Given the description of an element on the screen output the (x, y) to click on. 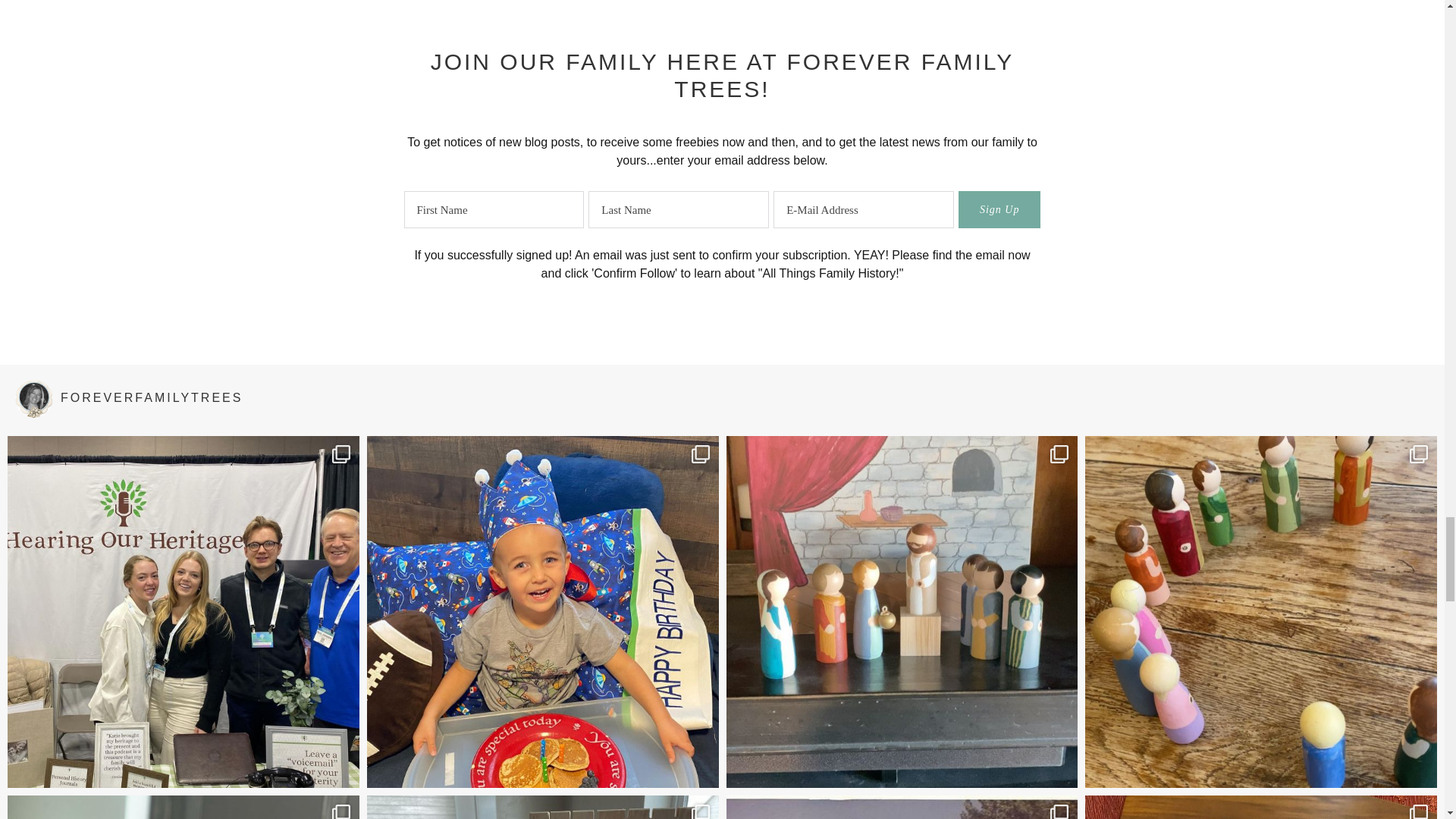
Sign Up (999, 209)
